Given the description of an element on the screen output the (x, y) to click on. 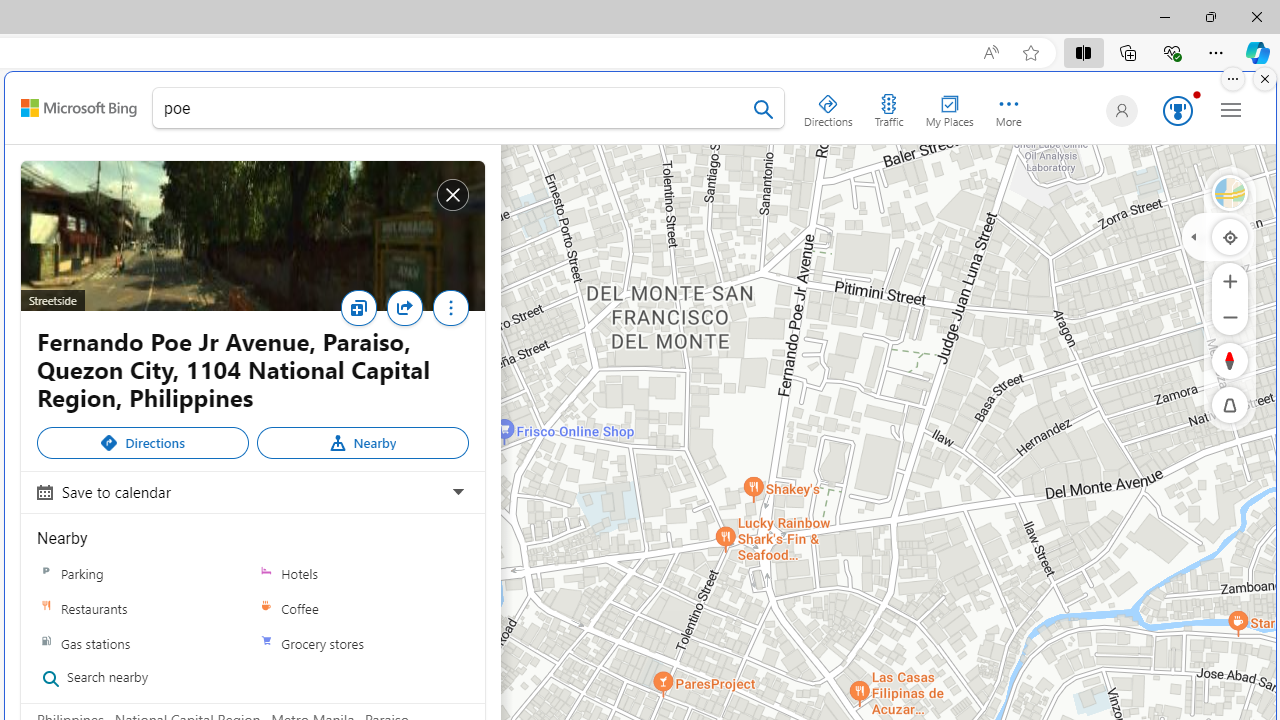
Traffic (888, 106)
Parking (46, 573)
Share (409, 314)
Animation (1196, 94)
More (450, 308)
My Places (949, 106)
Reset to Default Pitch (1230, 405)
Traffic (888, 106)
Streetside (252, 236)
Hotels (266, 573)
Reset to Default Rotation (1230, 360)
Search nearby (136, 678)
Back to Bing search (78, 107)
Parking (143, 573)
